Given the description of an element on the screen output the (x, y) to click on. 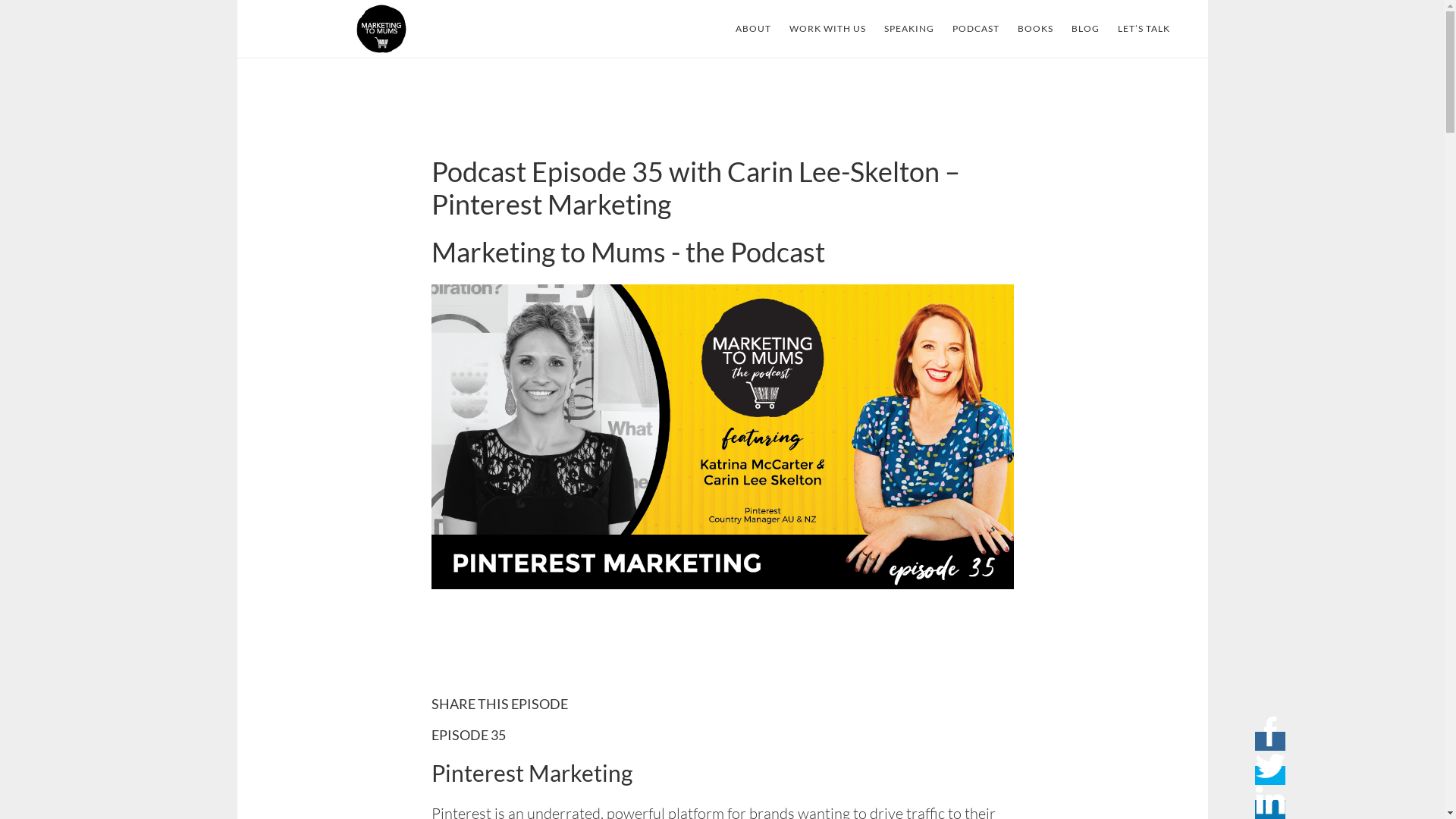
Skip to main content Element type: text (236, 0)
https://twitter.com/MarketingtoMums Element type: hover (1270, 765)
www.facebook.com/marketingtomums Element type: hover (1270, 731)
SPEAKING Element type: text (908, 28)
BLOG Element type: text (1084, 28)
MARKETING TO MUMS Element type: text (380, 28)
35. Pinterest Marketing with Carin Lee-Skelton Element type: hover (721, 642)
ABOUT Element type: text (753, 28)
PODCAST Element type: text (975, 28)
WORK WITH US Element type: text (826, 28)
https://au.linkedin.com/in/katrina-mccarter Element type: hover (1270, 799)
BOOKS Element type: text (1035, 28)
